Given the description of an element on the screen output the (x, y) to click on. 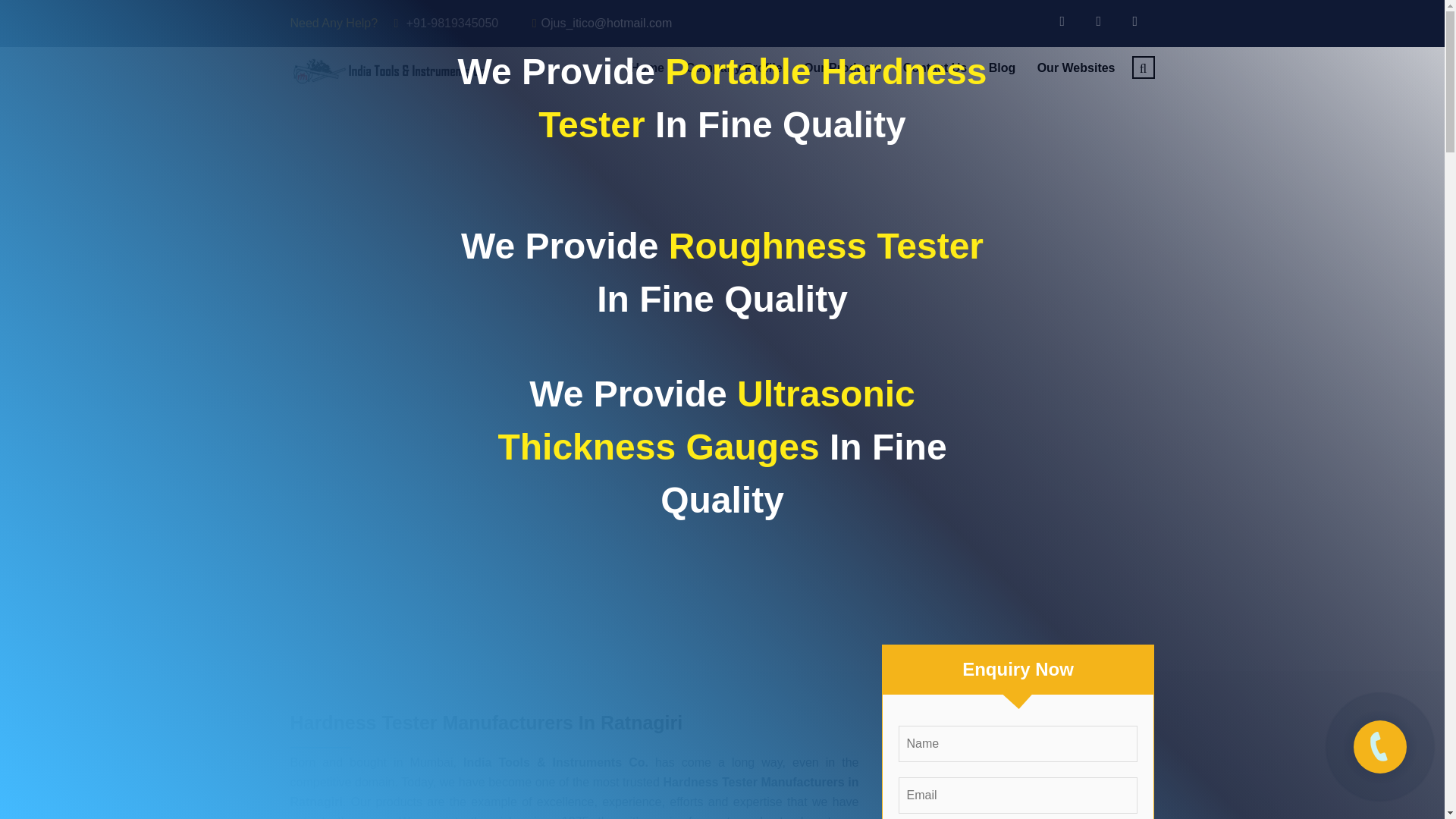
Pinterest (1132, 17)
Our Products (841, 67)
Facebook (1059, 17)
Home (646, 67)
Our Websites (1075, 67)
Home (646, 67)
Contact Us (934, 67)
Company Profile (733, 67)
Our Products (841, 67)
Air Water Heater (389, 69)
Blog (1002, 67)
Twitter (1096, 17)
Company Profile (733, 67)
